Given the description of an element on the screen output the (x, y) to click on. 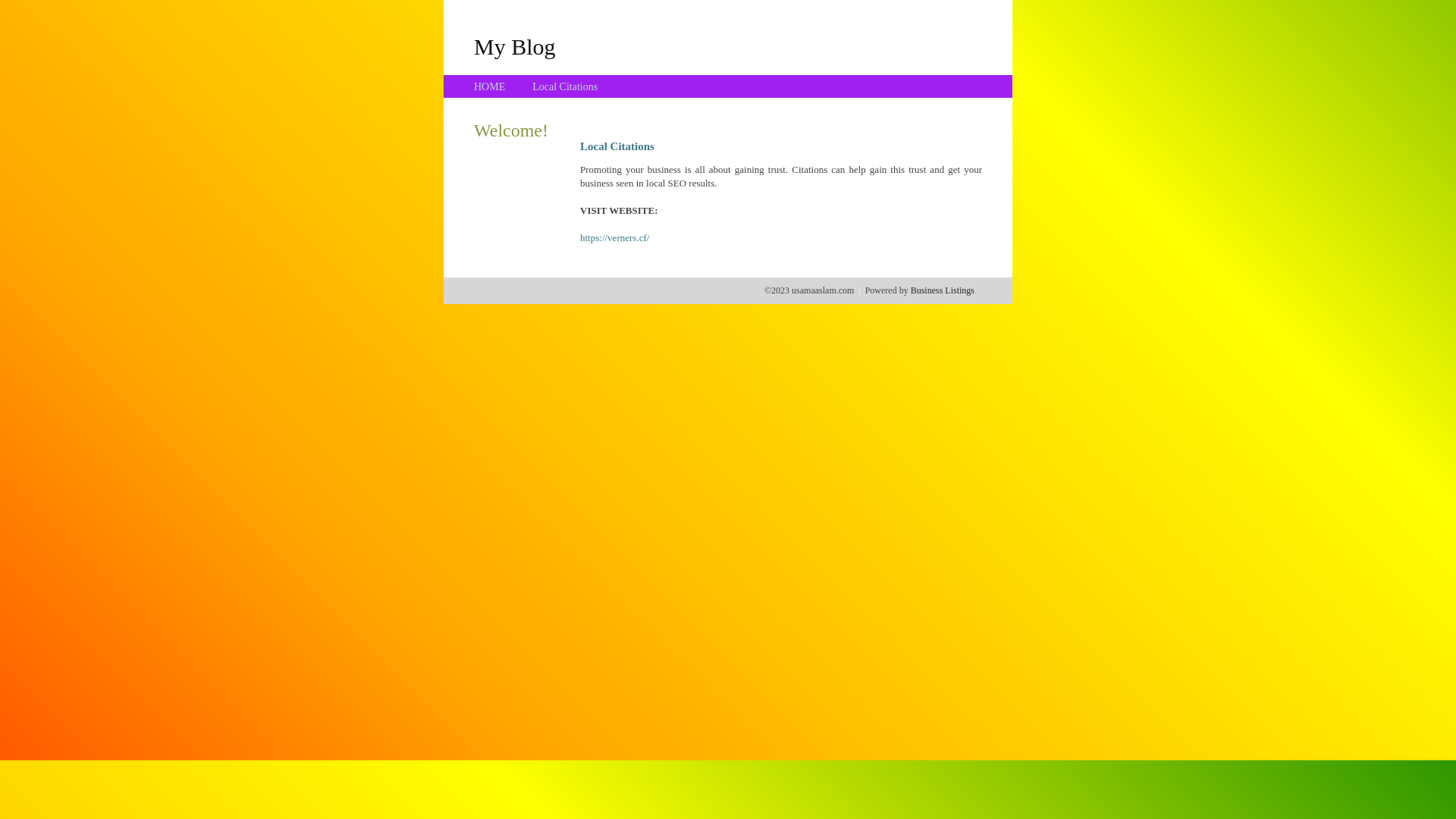
Local Citations Element type: text (564, 86)
HOME Element type: text (489, 86)
Business Listings Element type: text (942, 290)
My Blog Element type: text (514, 46)
https://verners.cf/ Element type: text (614, 237)
